Given the description of an element on the screen output the (x, y) to click on. 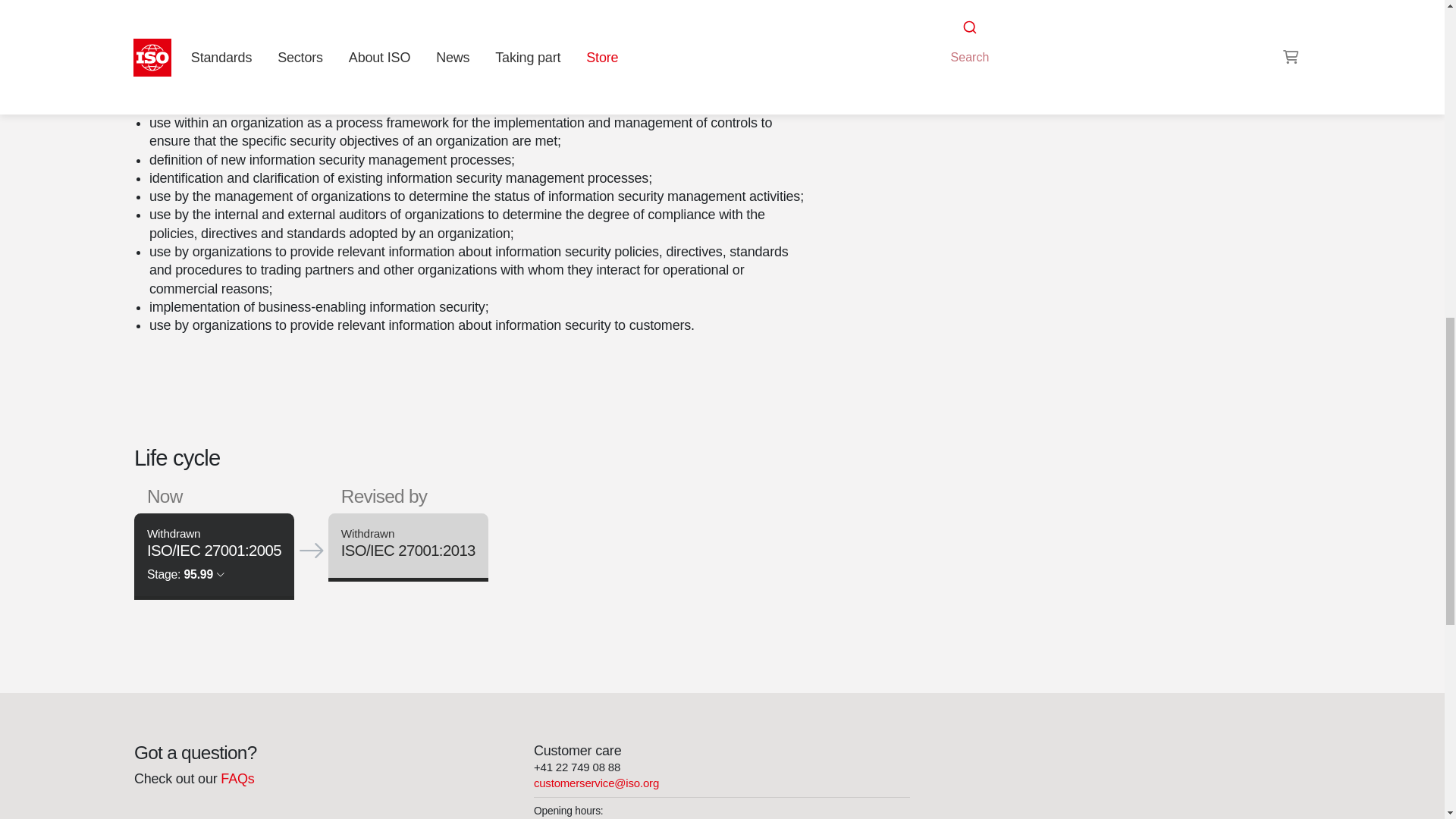
03.100.70 (1045, 8)
Management systems (1045, 8)
IT Security (988, 8)
RSS (956, 38)
35.030 (988, 8)
Stage: 95.99 (185, 573)
